Given the description of an element on the screen output the (x, y) to click on. 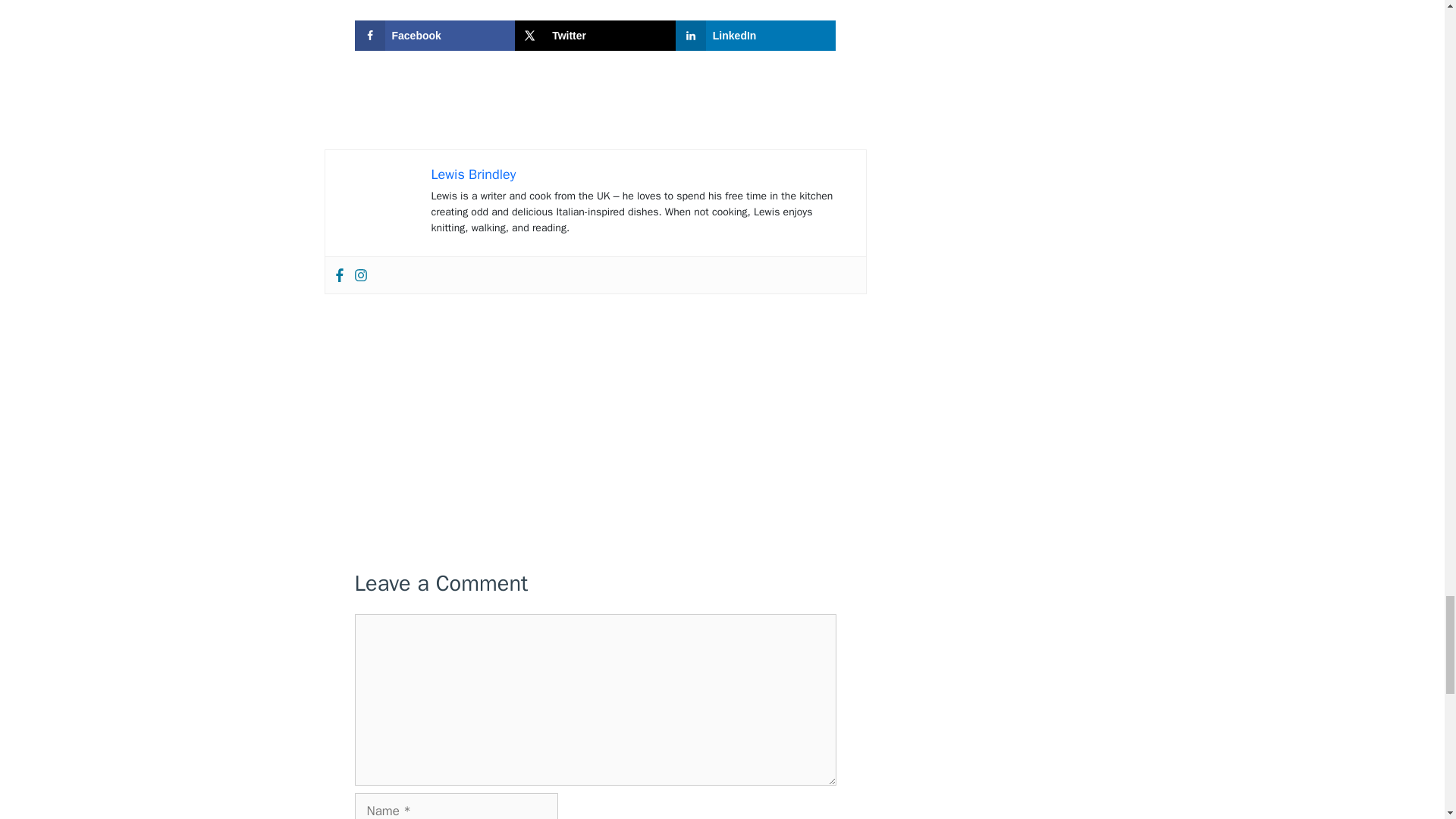
Share on Facebook (435, 35)
Share on X (595, 35)
Share on LinkedIn (755, 35)
Instagram (359, 275)
Facebook (338, 275)
